Given the description of an element on the screen output the (x, y) to click on. 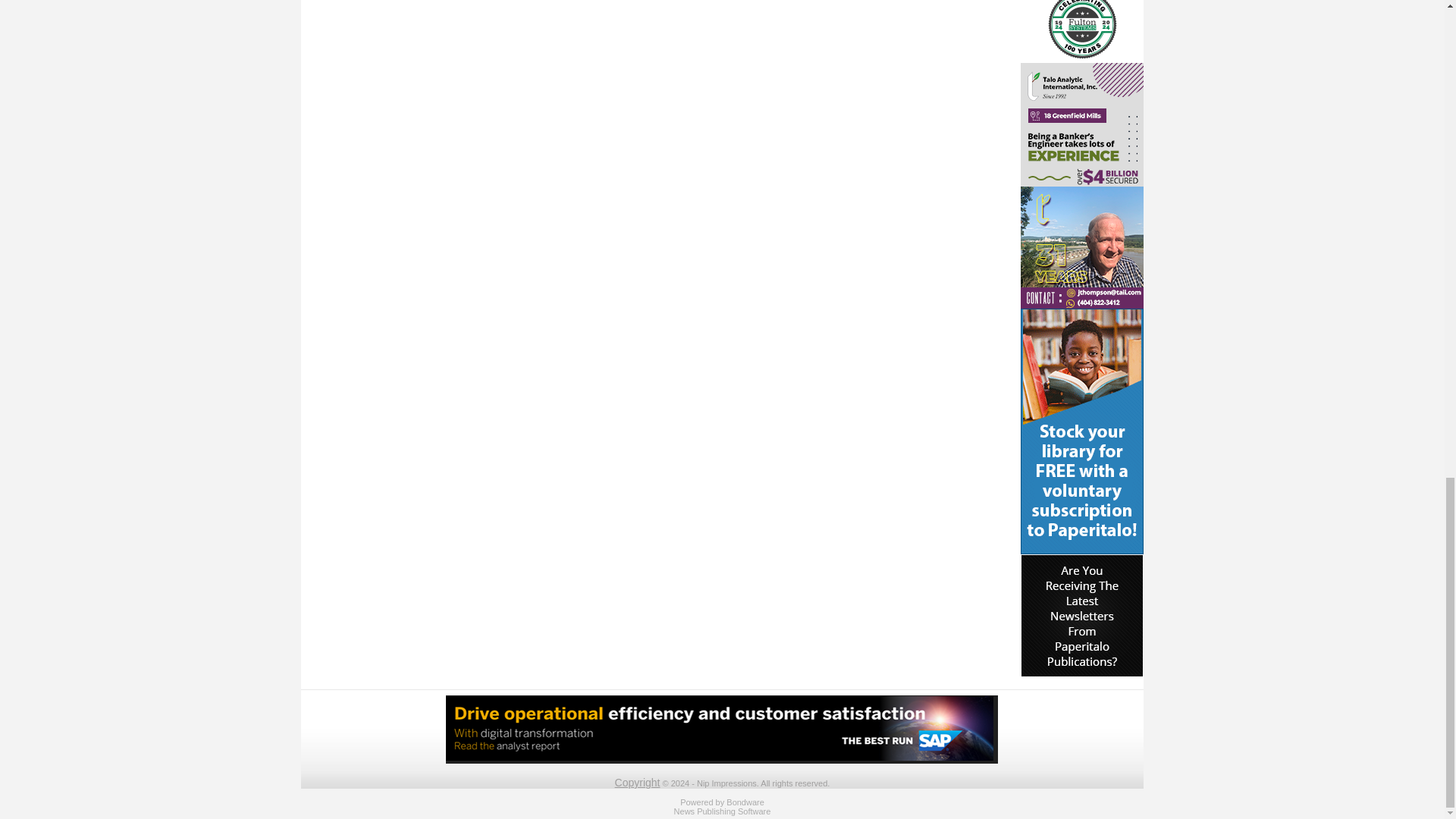
News Publishing Software (722, 810)
Bondware (745, 801)
